Given the description of an element on the screen output the (x, y) to click on. 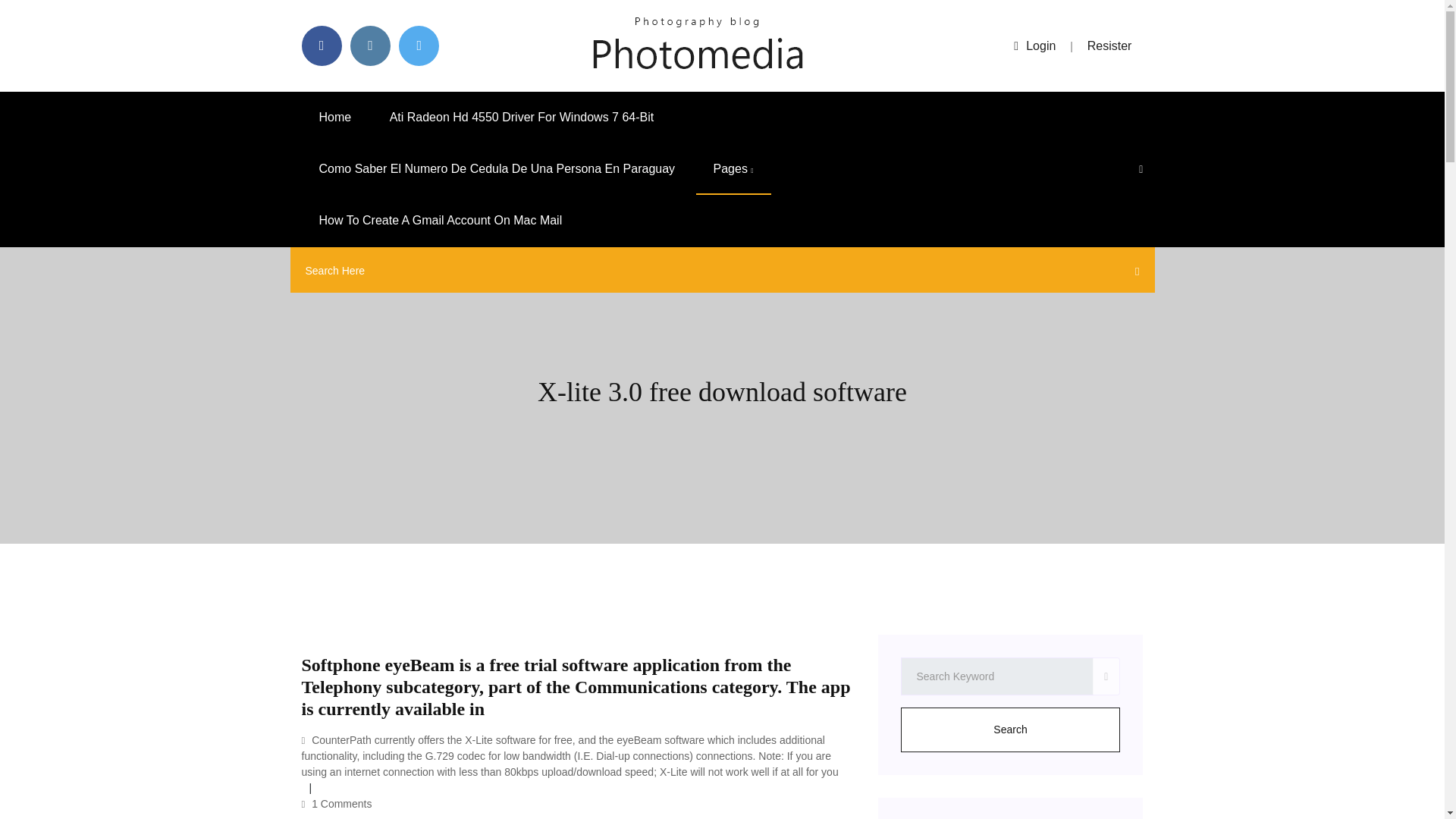
1 Comments (336, 803)
How To Create A Gmail Account On Mac Mail (440, 220)
Resister (1109, 45)
Pages (733, 168)
Home (335, 117)
Ati Radeon Hd 4550 Driver For Windows 7 64-Bit (521, 117)
Como Saber El Numero De Cedula De Una Persona En Paraguay (497, 168)
Login (1034, 45)
